Given the description of an element on the screen output the (x, y) to click on. 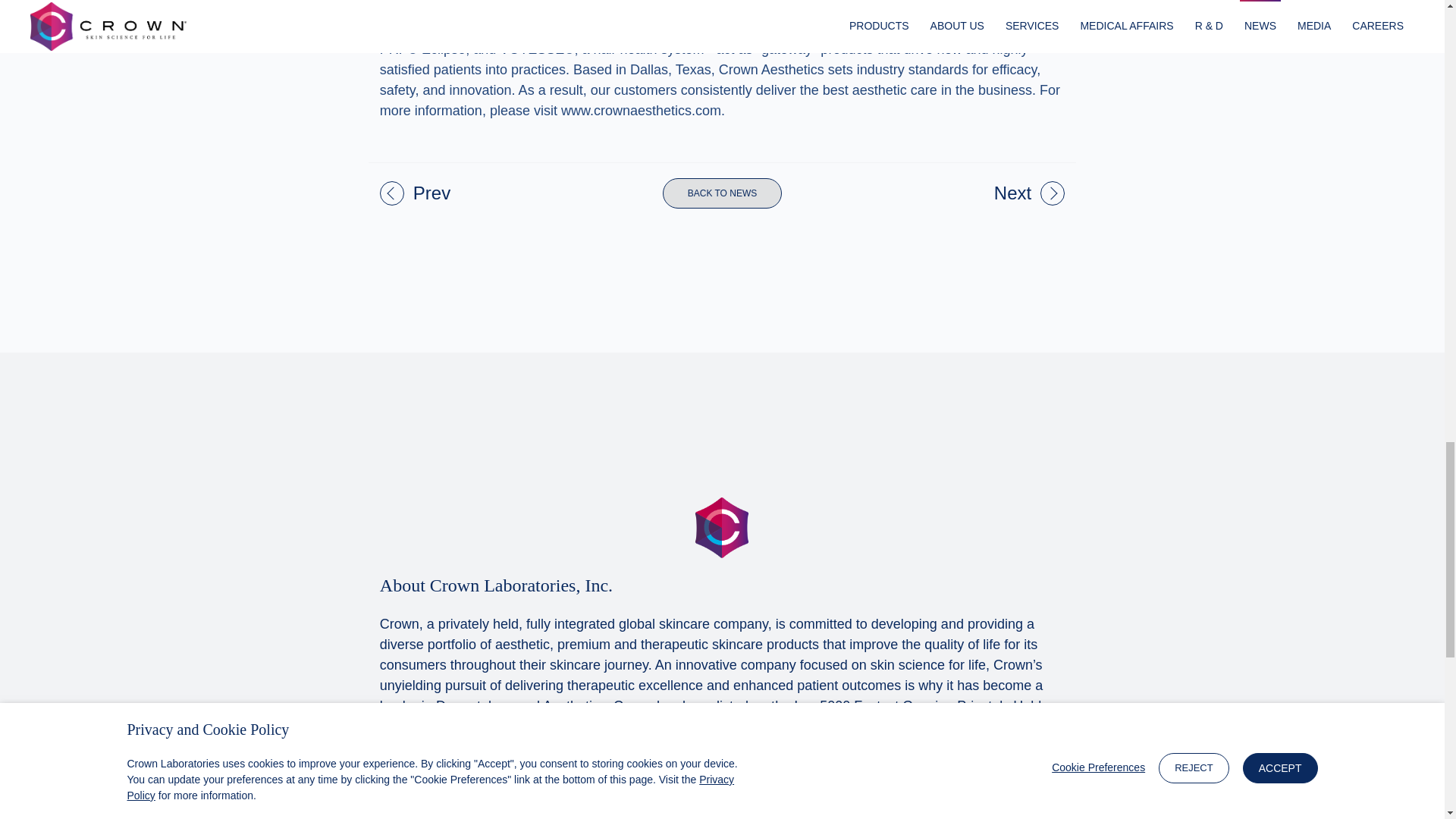
BACK TO NEWS (722, 192)
www.crownlaboratories.com (465, 745)
Next (1024, 192)
Prev (420, 192)
